Given the description of an element on the screen output the (x, y) to click on. 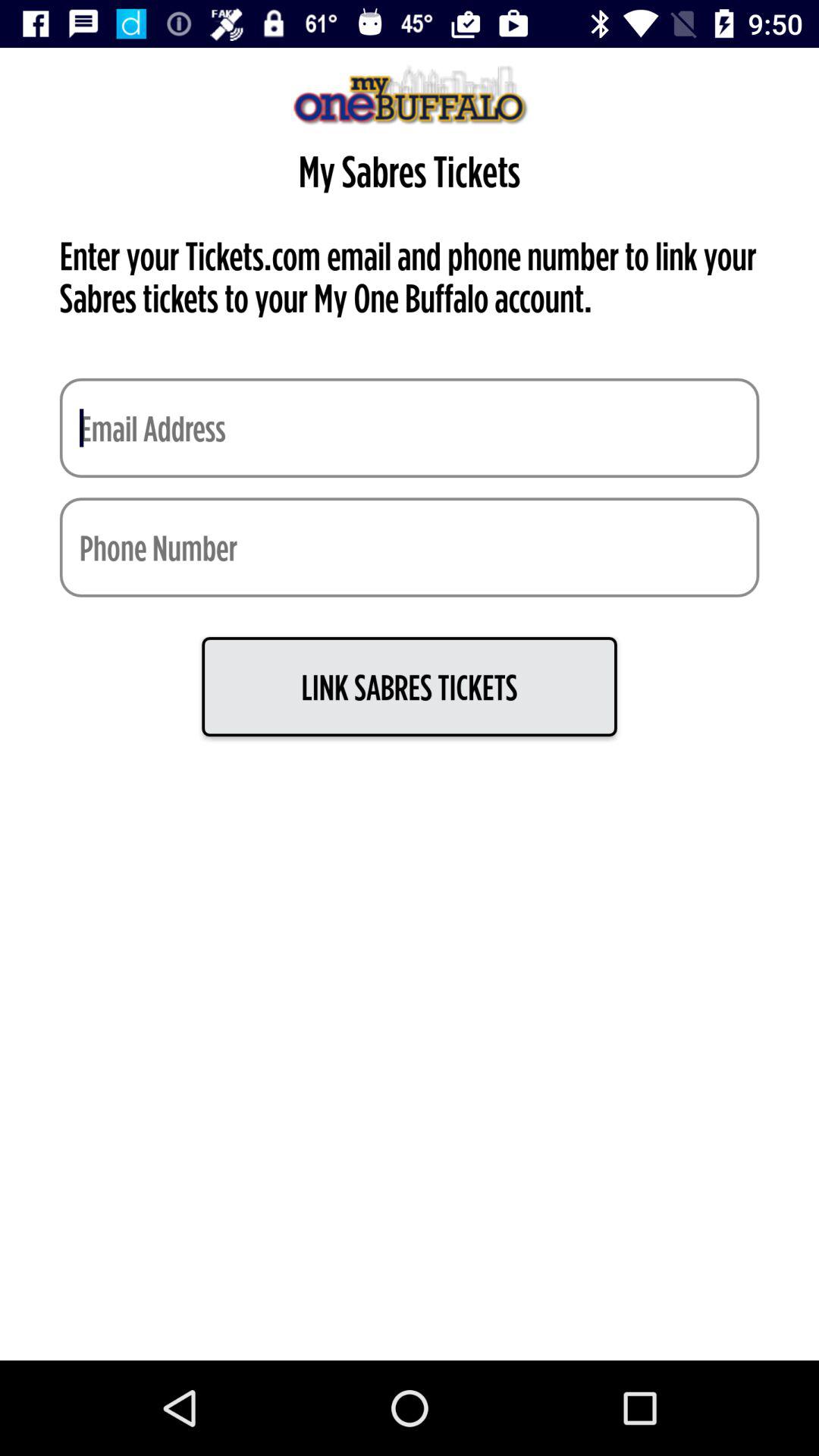
type email address (409, 427)
